Given the description of an element on the screen output the (x, y) to click on. 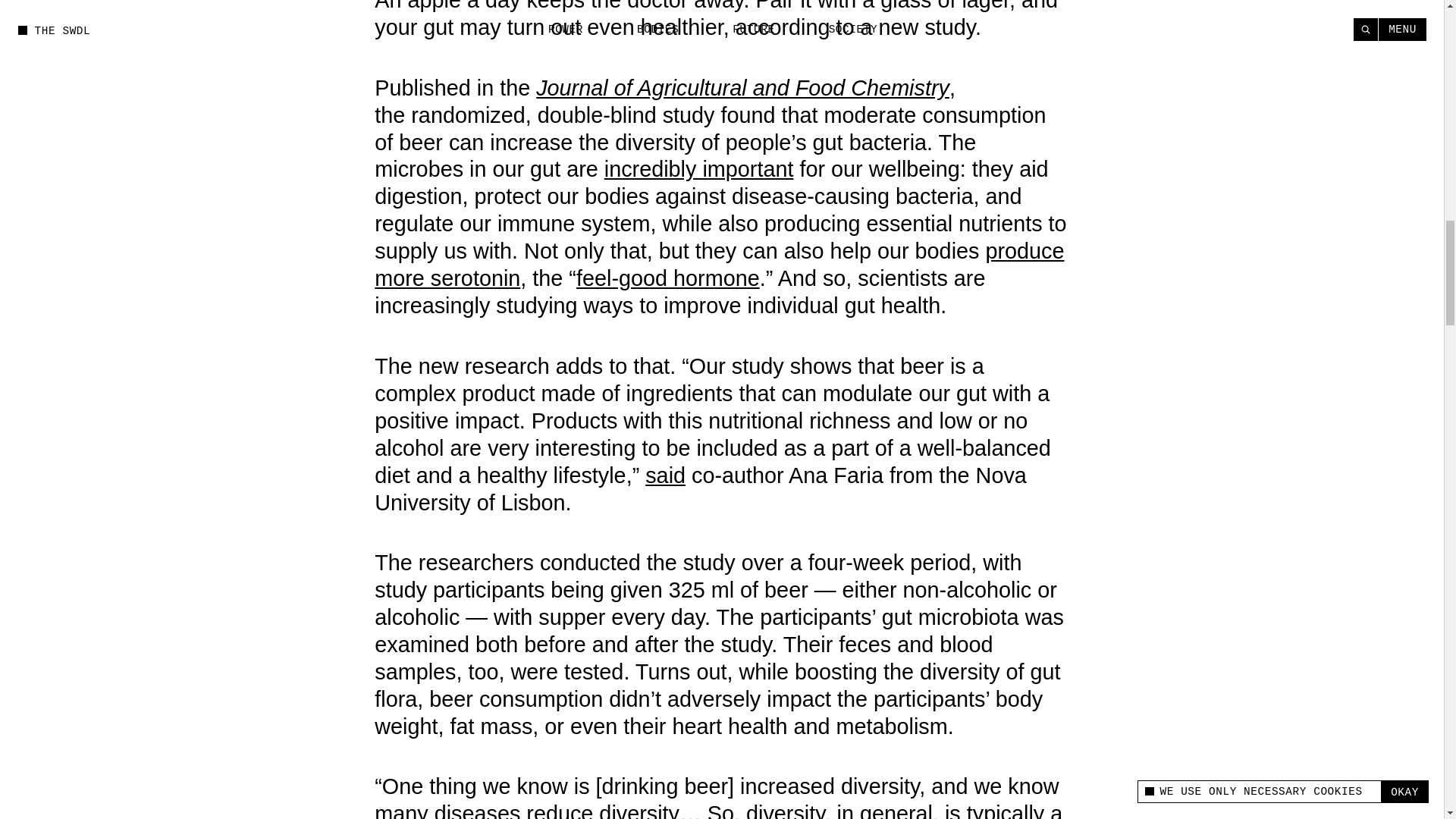
Journal of Agricultural and Food Chemistry (742, 87)
produce more serotonin (719, 264)
incredibly important (698, 168)
